Given the description of an element on the screen output the (x, y) to click on. 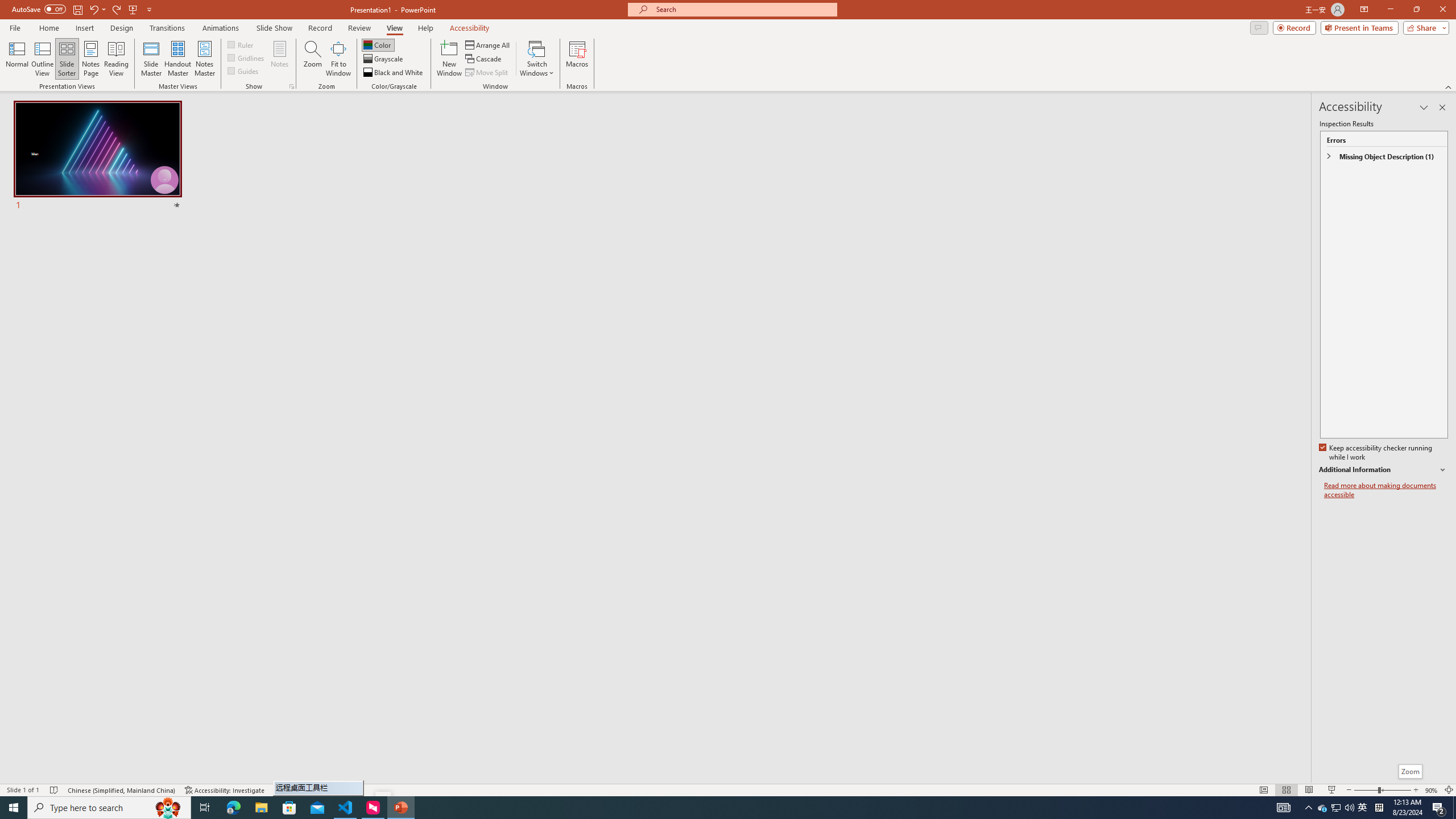
Zoom 90% (1431, 790)
Arrange All (488, 44)
Notes Master (204, 58)
Macros (576, 58)
